Given the description of an element on the screen output the (x, y) to click on. 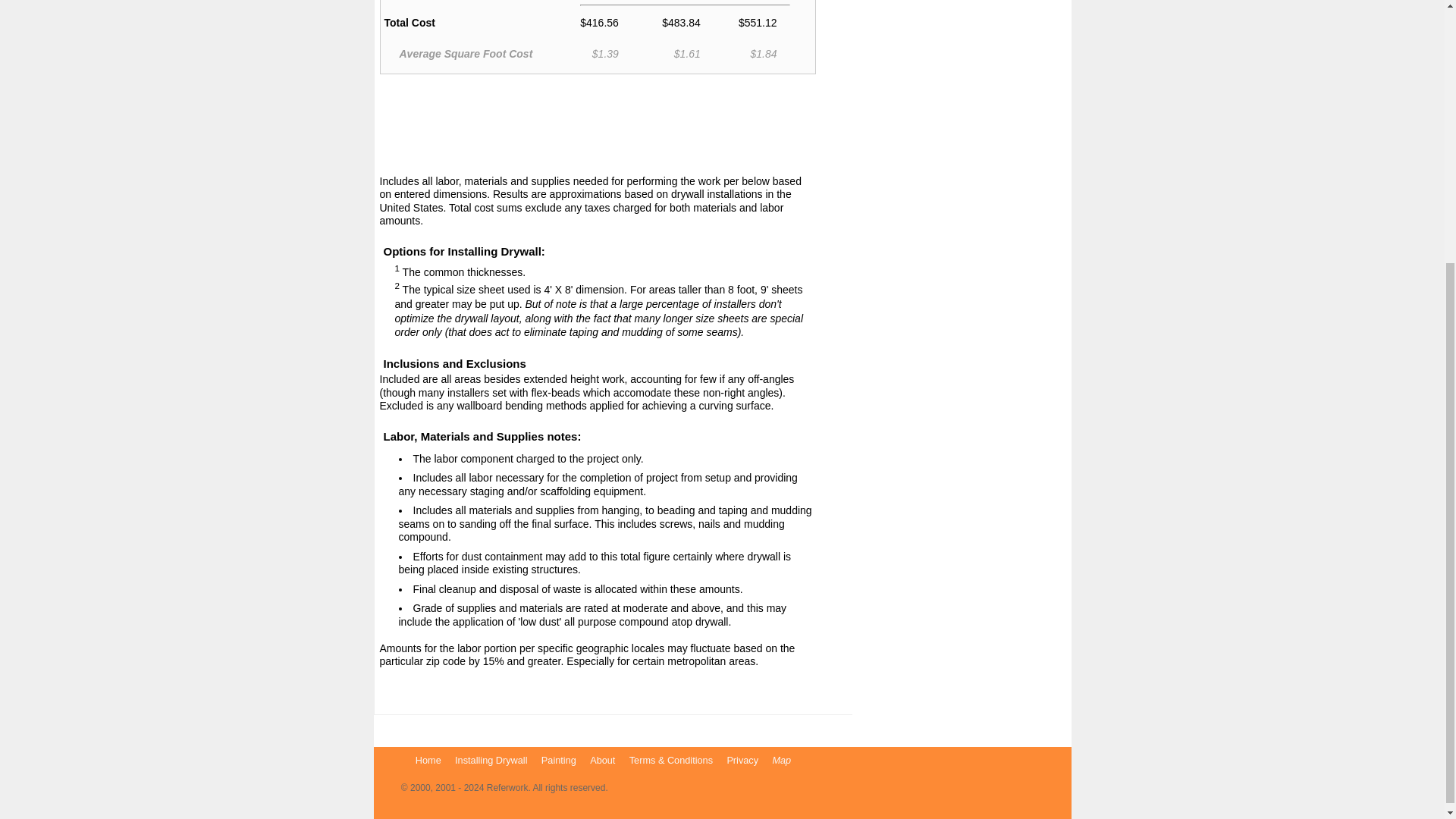
Privacy (742, 758)
Painting (558, 758)
Advertisement (596, 127)
About (602, 758)
Home (427, 758)
Map (780, 758)
Installing Drywall (490, 758)
